Given the description of an element on the screen output the (x, y) to click on. 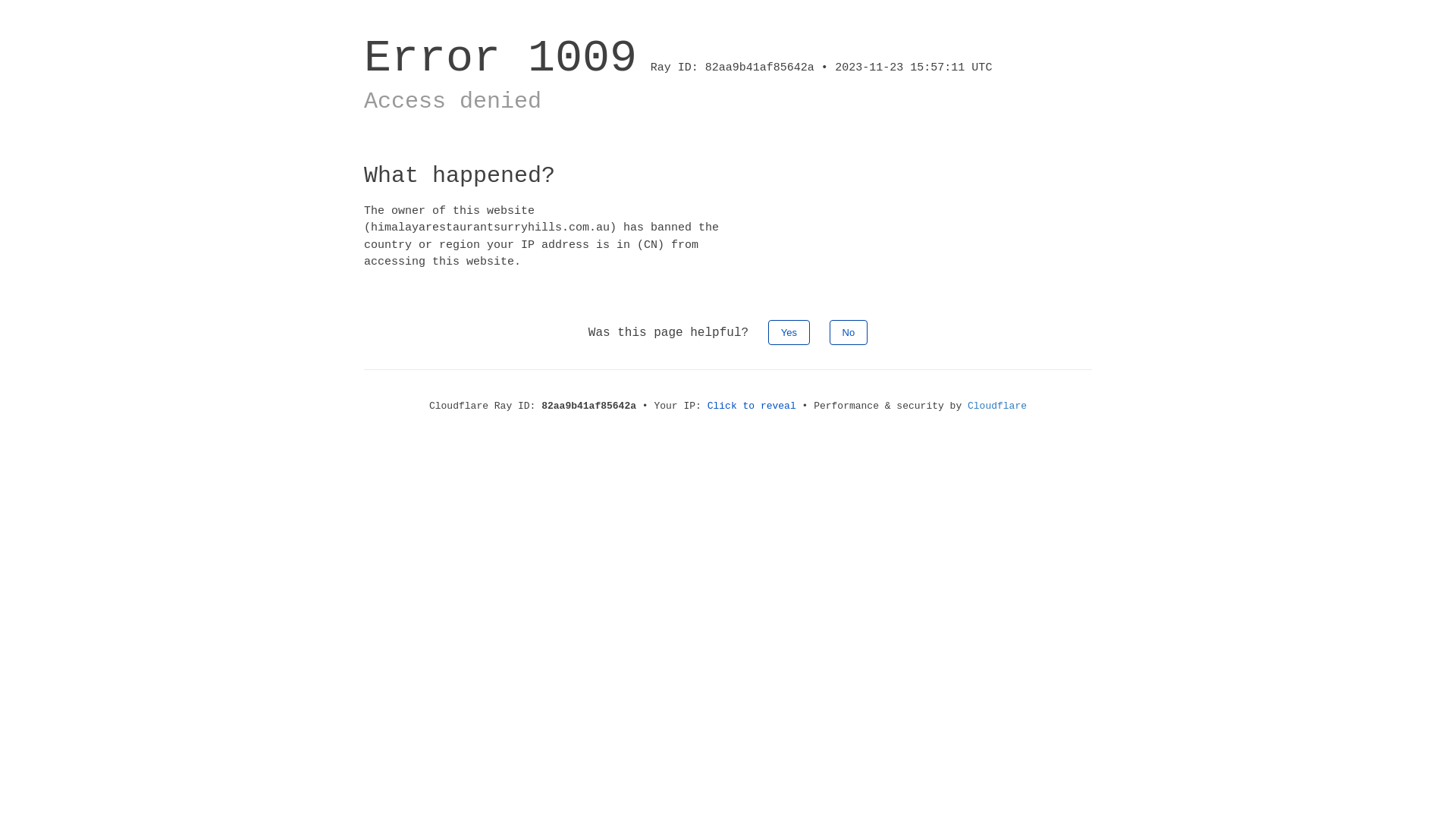
Yes Element type: text (788, 332)
Cloudflare Element type: text (996, 405)
Click to reveal Element type: text (751, 405)
No Element type: text (848, 332)
